Given the description of an element on the screen output the (x, y) to click on. 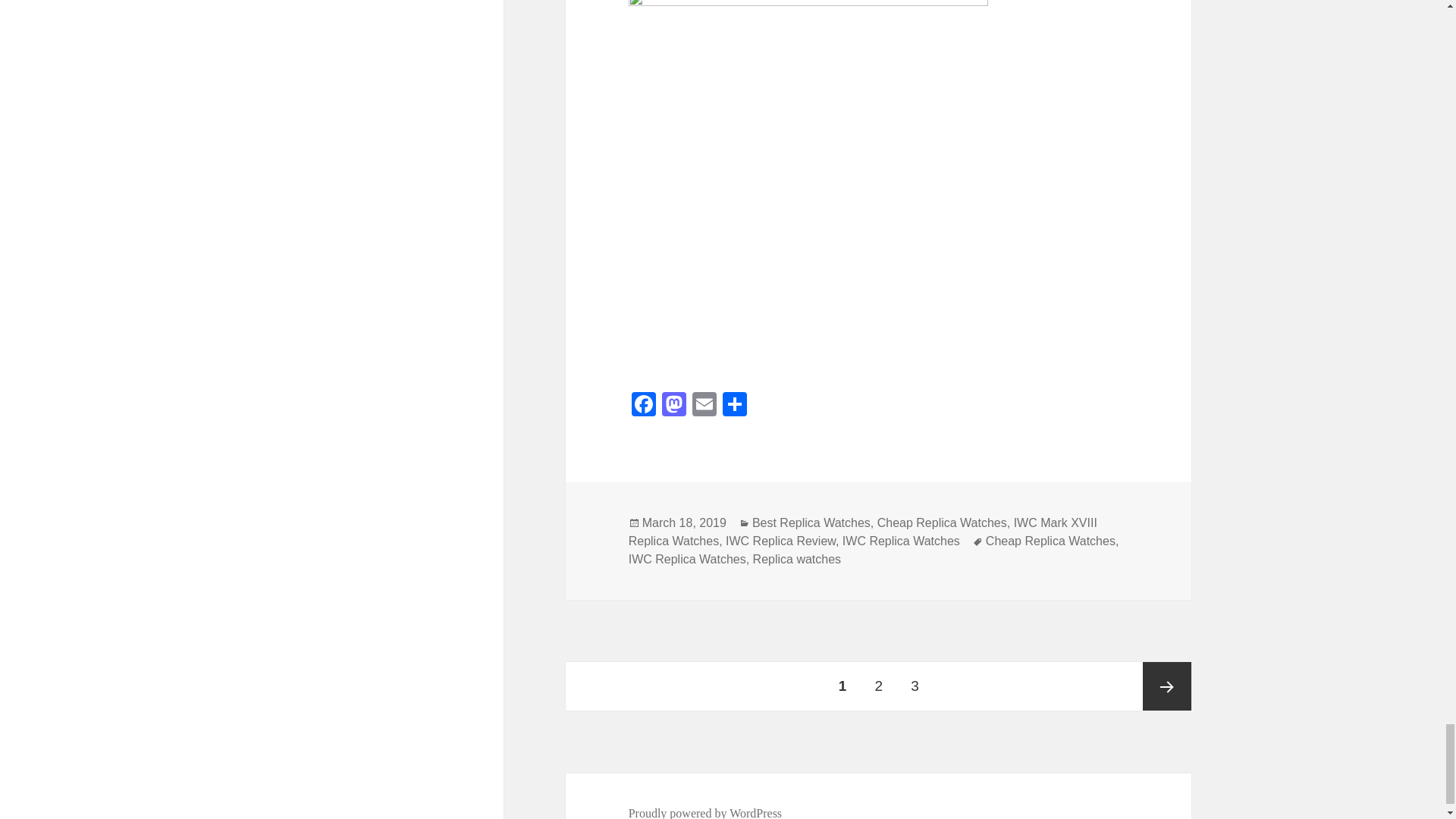
Email (703, 406)
Mastodon (673, 406)
Facebook (643, 406)
